Given the description of an element on the screen output the (x, y) to click on. 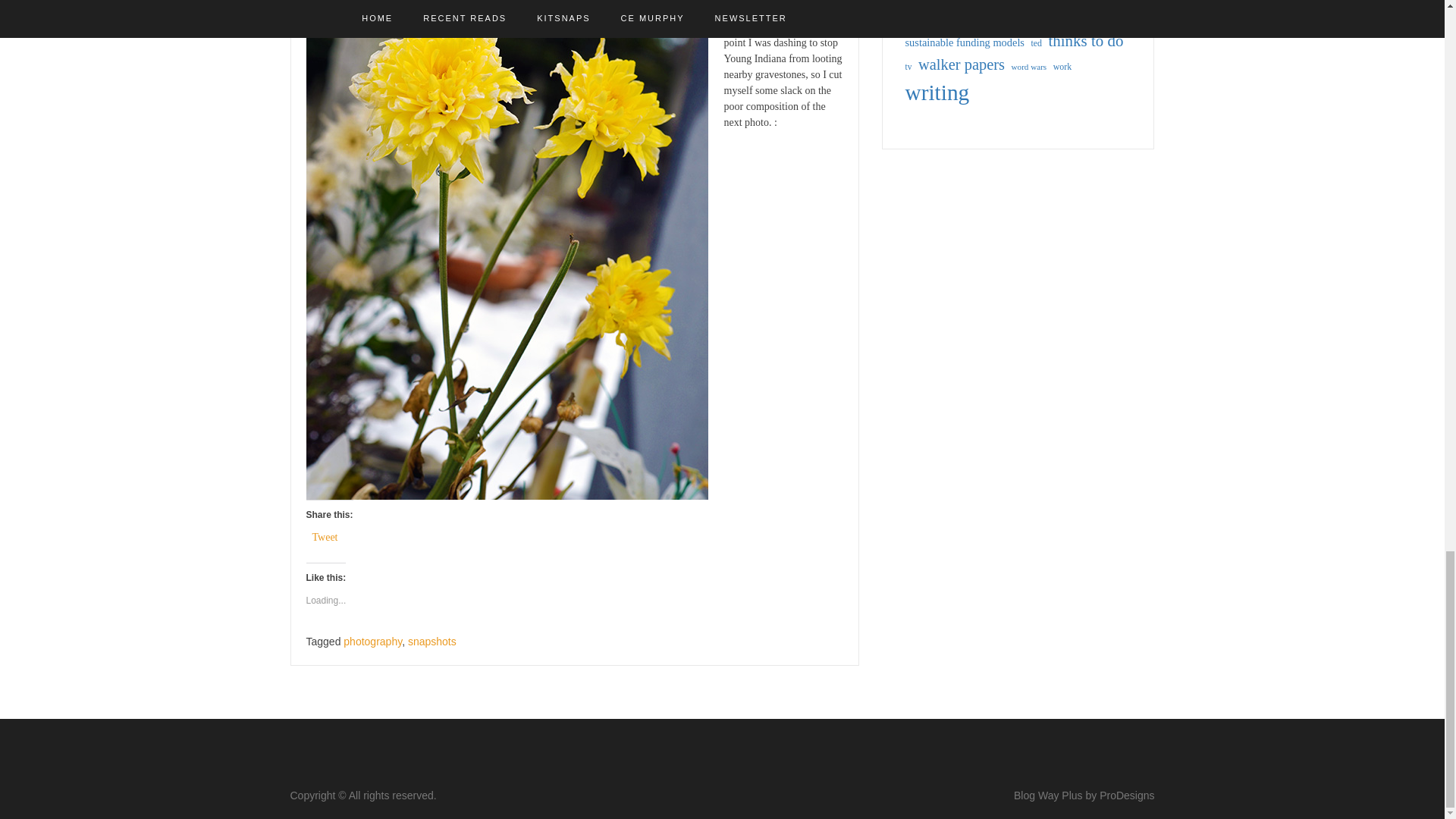
photography (372, 641)
Tweet (325, 535)
snapshots (432, 641)
